Given the description of an element on the screen output the (x, y) to click on. 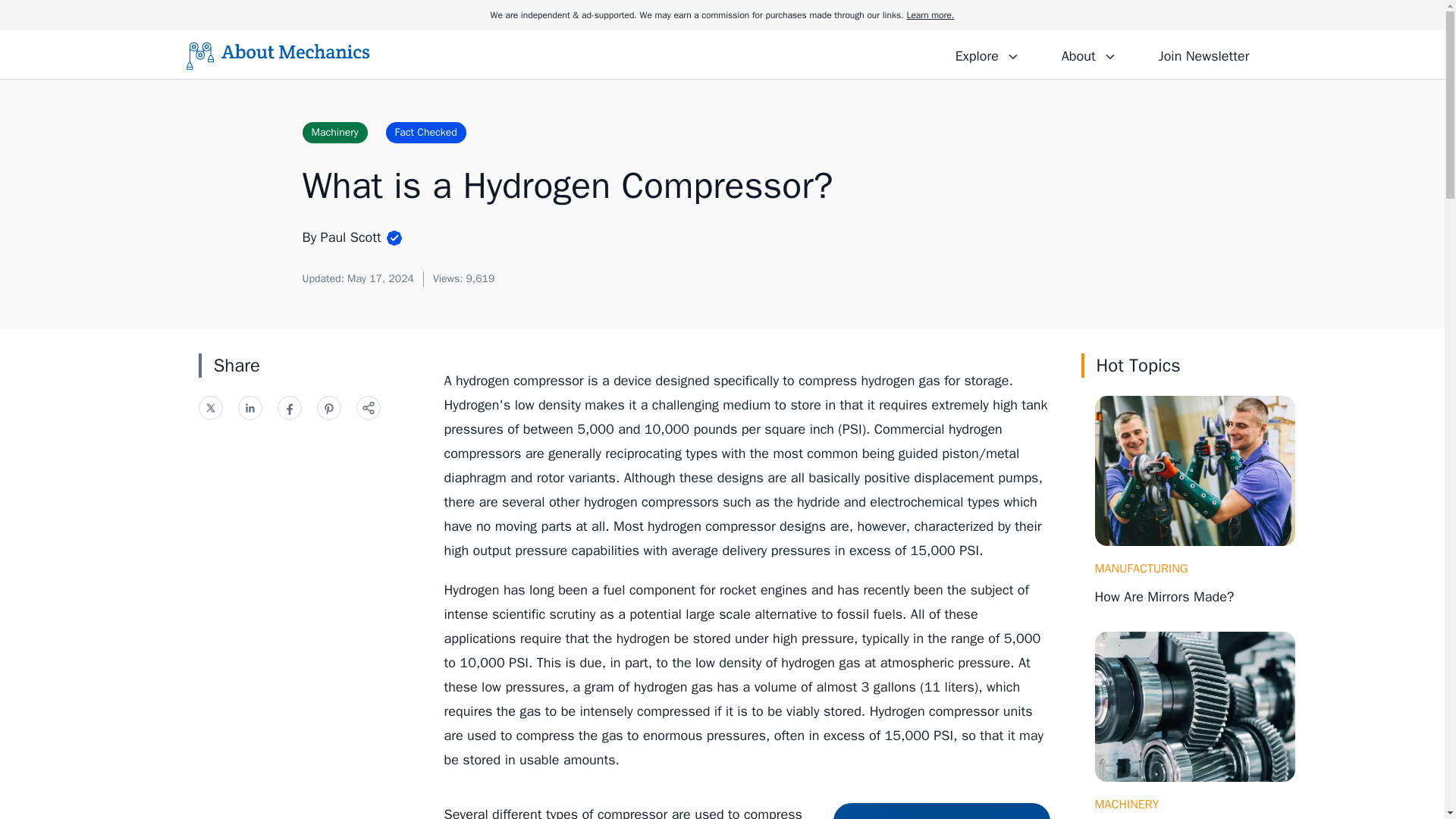
Fact Checked (425, 132)
Learn more. (929, 15)
Join Newsletter (1202, 54)
About (1088, 54)
Machinery (333, 132)
Explore (986, 54)
